Given the description of an element on the screen output the (x, y) to click on. 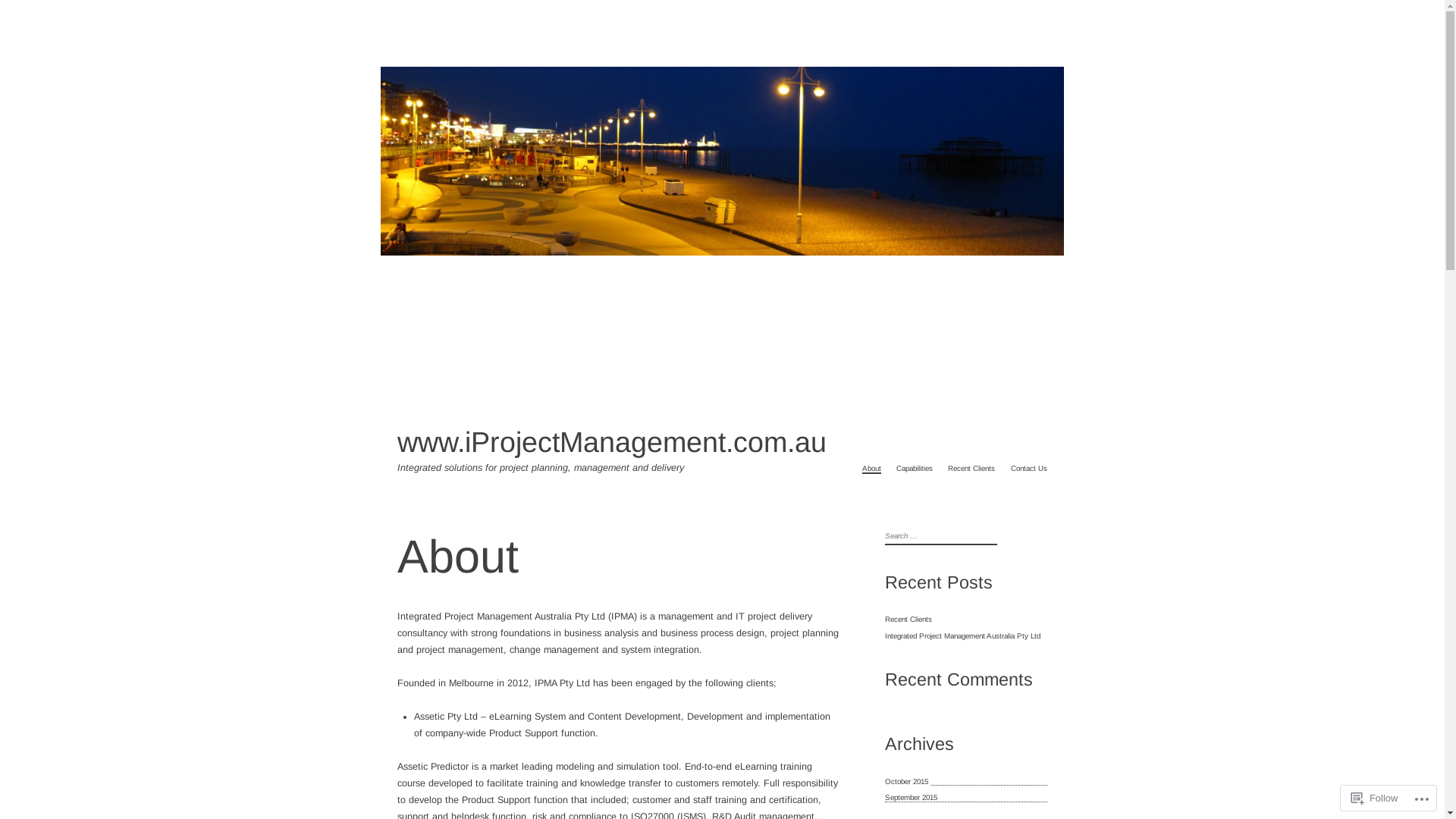
Recent Clients Element type: text (970, 468)
Capabilities Element type: text (914, 468)
Contact Us Element type: text (1028, 468)
About Element type: text (871, 468)
www.iProjectManagement.com.au Element type: text (611, 442)
Follow Element type: text (1374, 797)
Integrated Project Management Australia Pty Ltd Element type: text (962, 635)
Recent Clients Element type: text (907, 619)
September 2015 Element type: text (912, 797)
October 2015 Element type: text (907, 781)
Search Element type: text (12, 8)
